Given the description of an element on the screen output the (x, y) to click on. 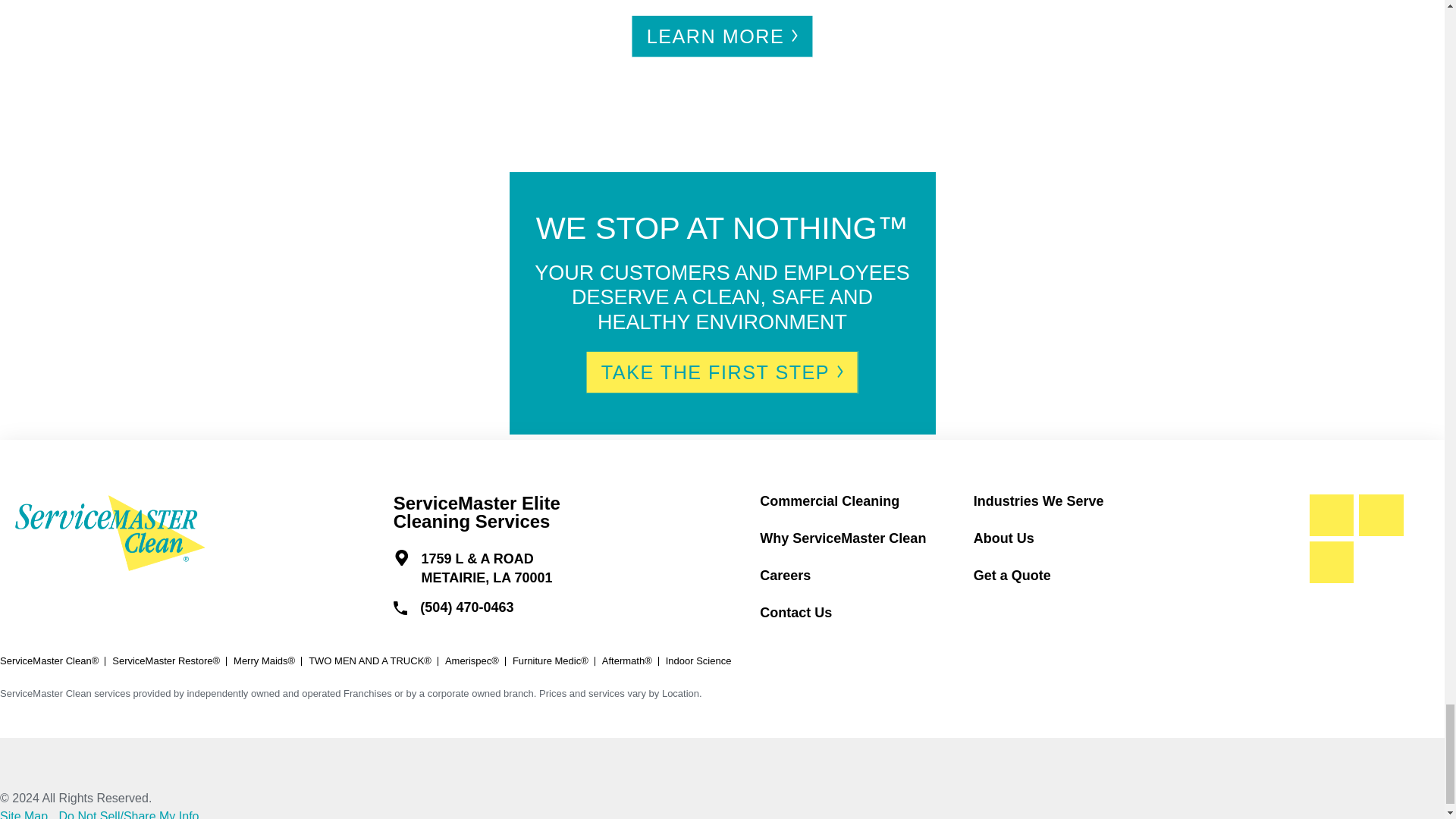
Facebook (1331, 515)
ServiceMaster Elite Cleaning Services (110, 532)
LinkedIn (1380, 515)
Twitter (1331, 562)
